Given the description of an element on the screen output the (x, y) to click on. 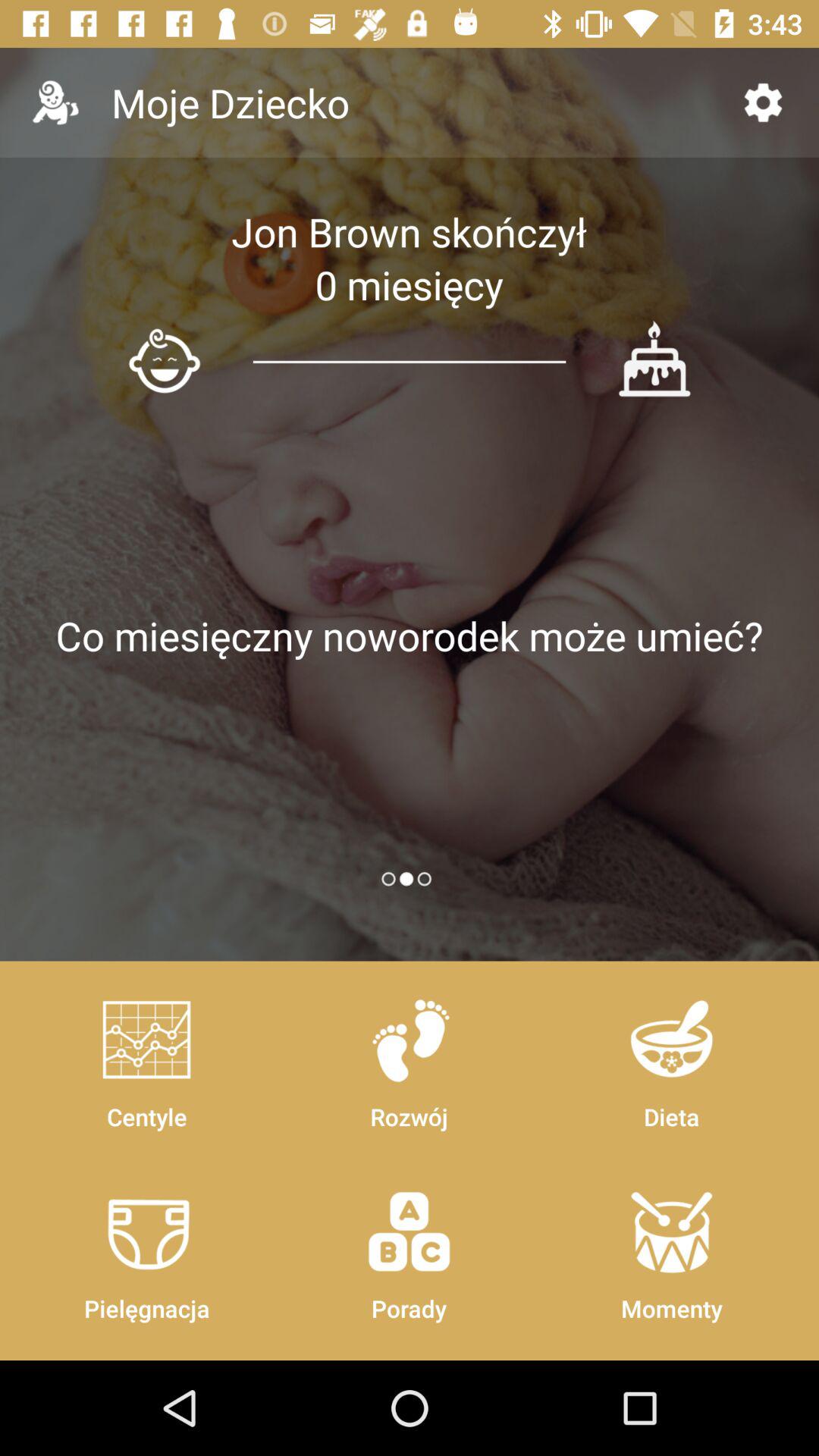
press the icon next to the centyle (409, 1248)
